Given the description of an element on the screen output the (x, y) to click on. 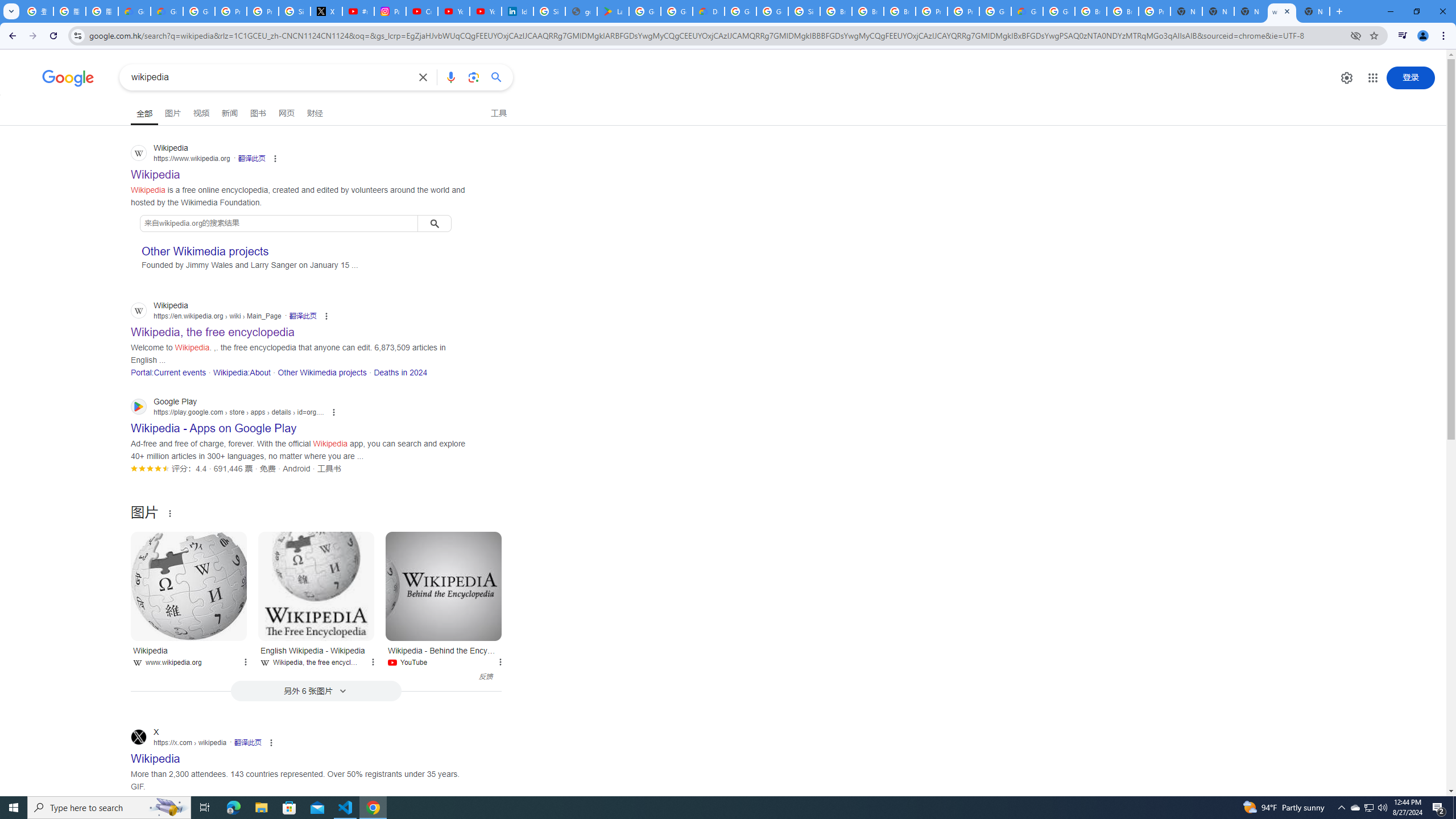
#nbabasketballhighlights - YouTube (358, 11)
Wikipedia:About (241, 371)
Privacy Help Center - Policies Help (262, 11)
Wikipedia - Behind the Encyclopedia (443, 586)
English Wikipedia - Wikipedia (315, 586)
Wikipedia - Behind the Encyclopedia (443, 586)
